Given the description of an element on the screen output the (x, y) to click on. 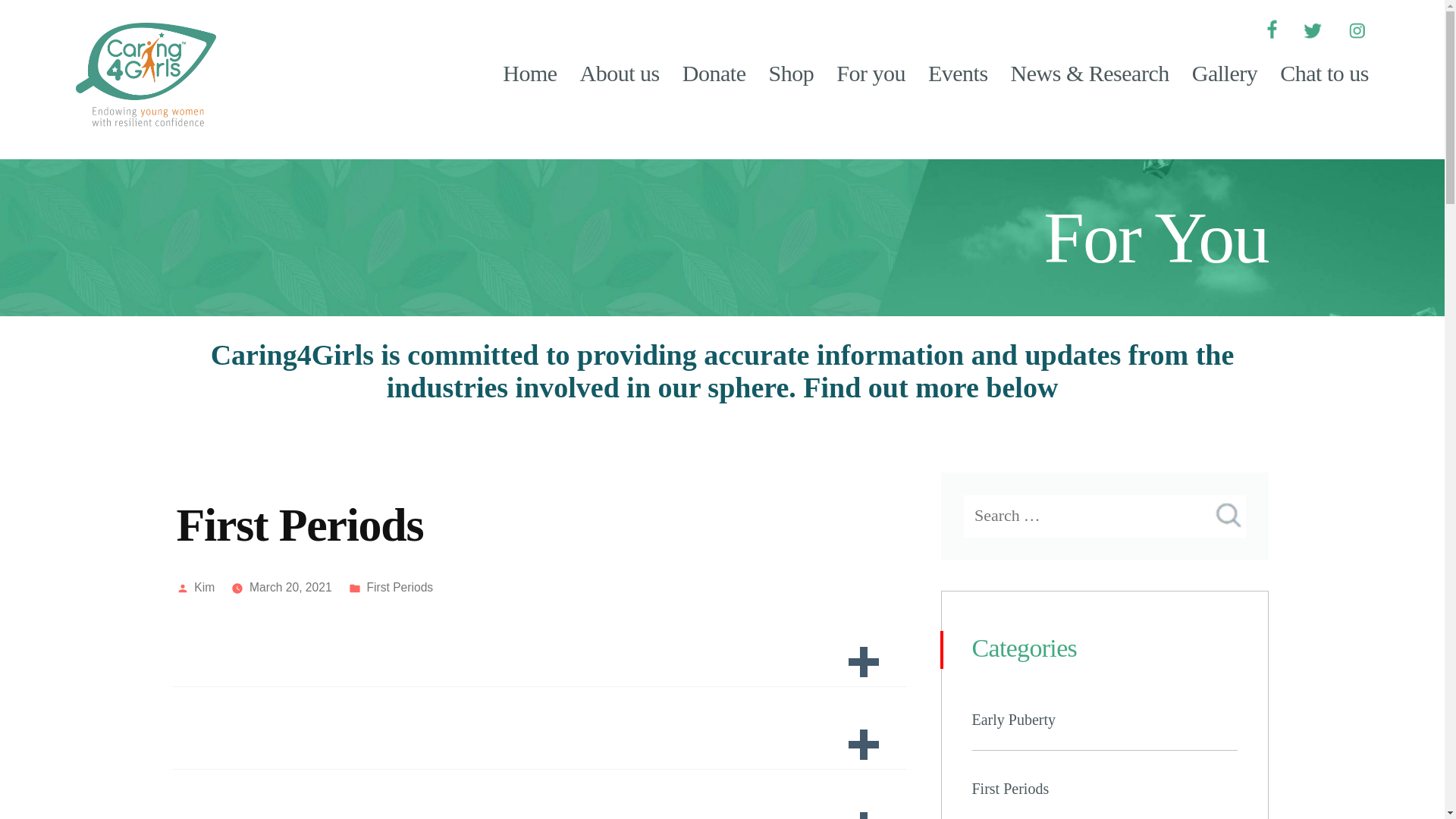
For you (871, 72)
Events (957, 72)
Chat to us (1318, 72)
Shop (791, 72)
Kim (203, 586)
Donate (714, 72)
Home (534, 72)
First Periods (399, 586)
First Periods (1010, 788)
Early Puberty (1014, 719)
Gallery (1224, 72)
About us (620, 72)
March 20, 2021 (289, 586)
